Given the description of an element on the screen output the (x, y) to click on. 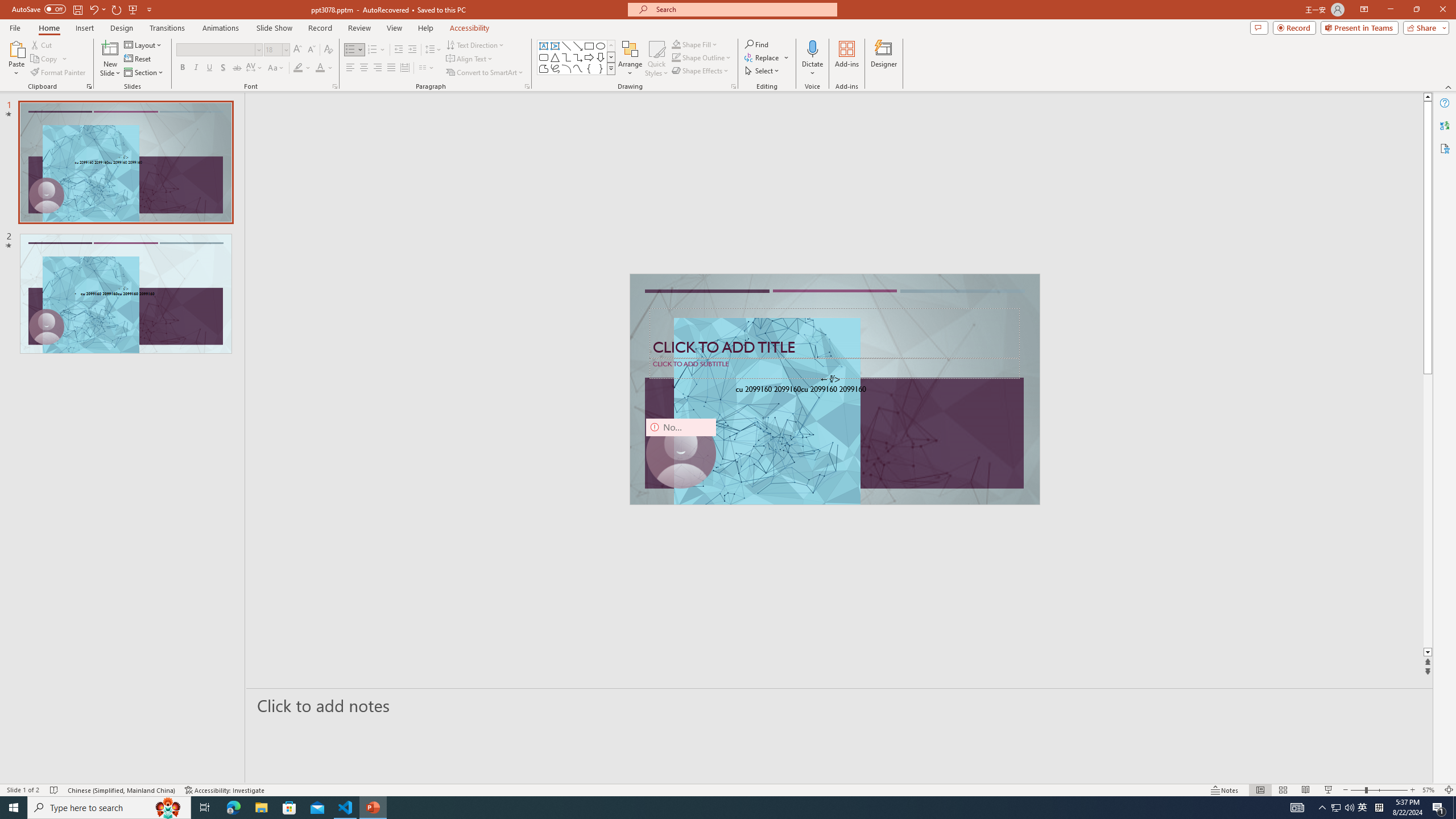
AutomationID: ShapesInsertGallery (576, 57)
Align Right (377, 67)
Text Highlight Color Yellow (297, 67)
Font... (334, 85)
Row Down (611, 56)
Character Spacing (254, 67)
Arrow: Right (589, 57)
Replace... (762, 56)
Increase Font Size (297, 49)
